Given the description of an element on the screen output the (x, y) to click on. 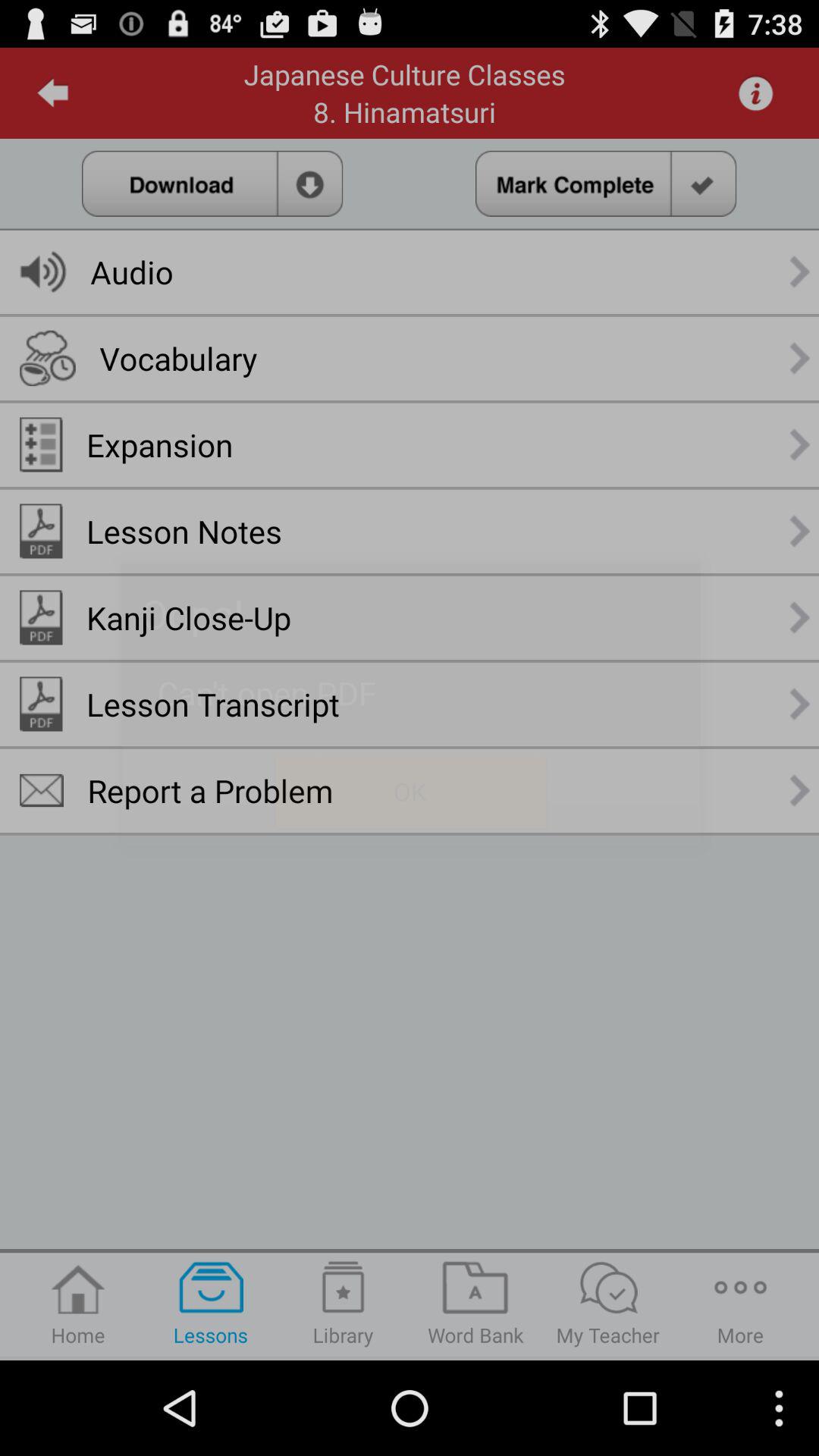
turn on the expansion app (159, 444)
